Given the description of an element on the screen output the (x, y) to click on. 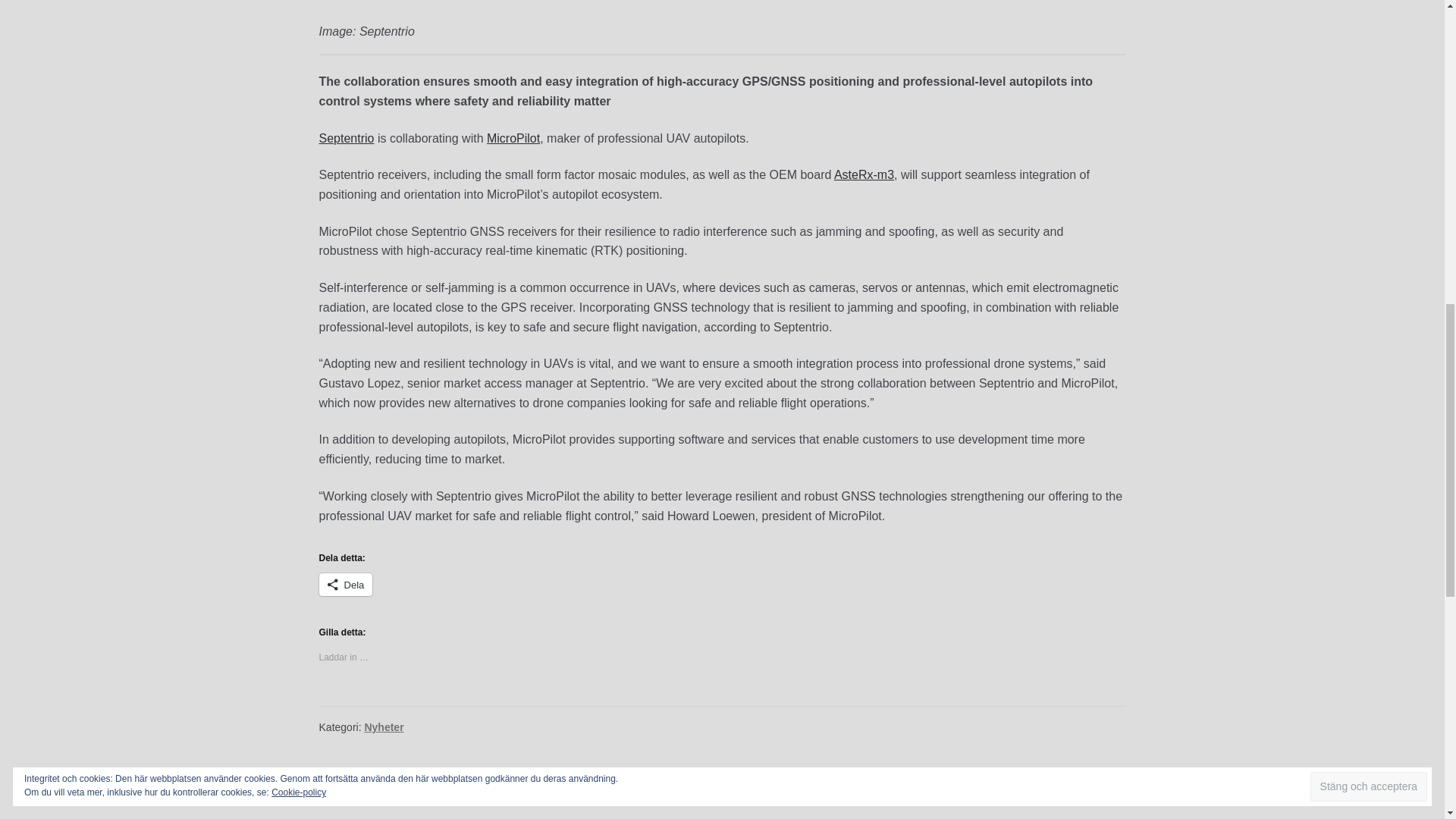
Septentrio (346, 137)
Nyheter (383, 727)
MicroPilot (513, 137)
AsteRx-m3 (863, 174)
Dela (345, 584)
